Given the description of an element on the screen output the (x, y) to click on. 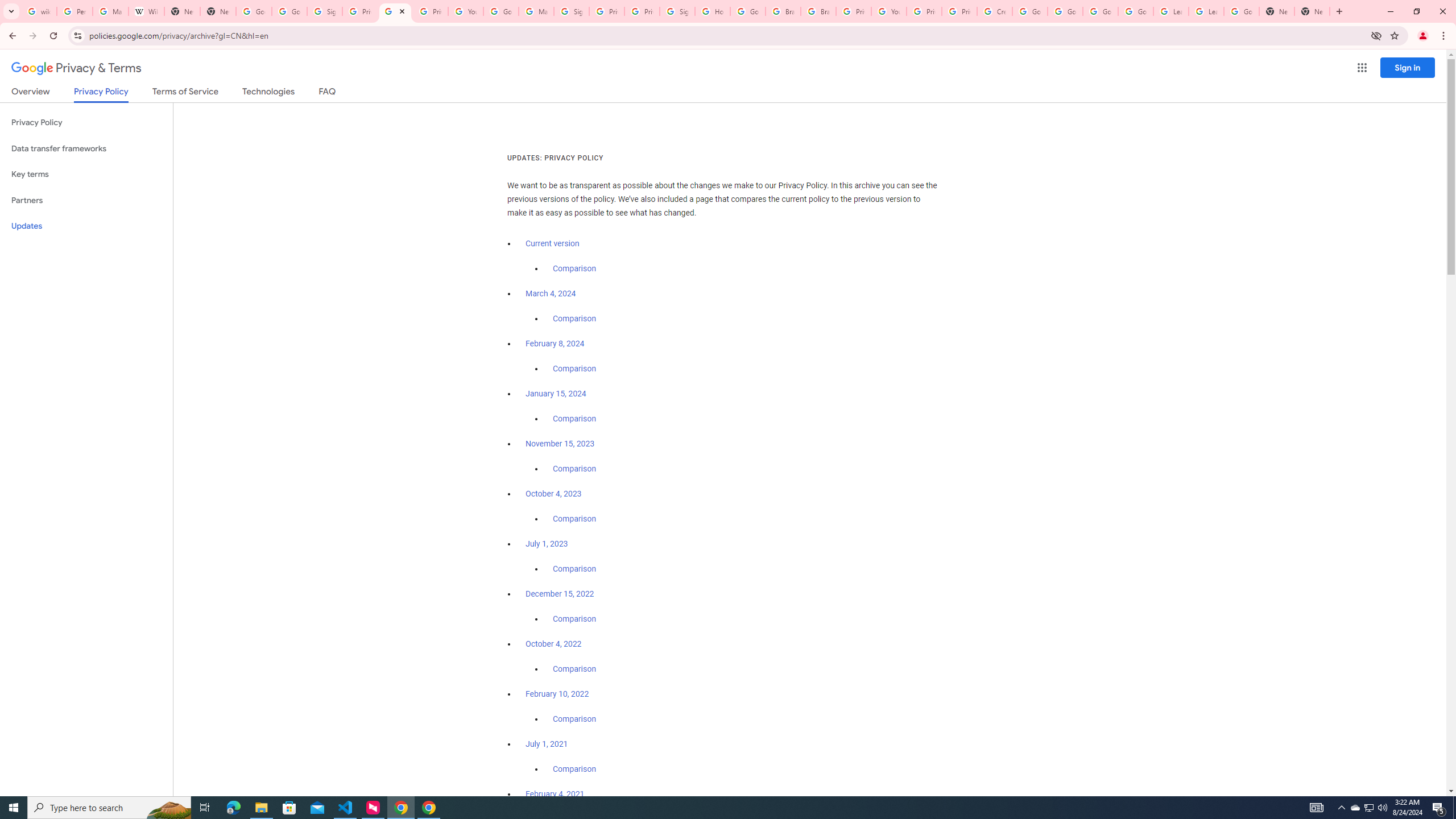
February 4, 2021 (555, 793)
Google Account Help (501, 11)
Brand Resource Center (783, 11)
March 4, 2024 (550, 293)
Google Account Help (1029, 11)
February 8, 2024 (555, 343)
Comparison (574, 768)
